Given the description of an element on the screen output the (x, y) to click on. 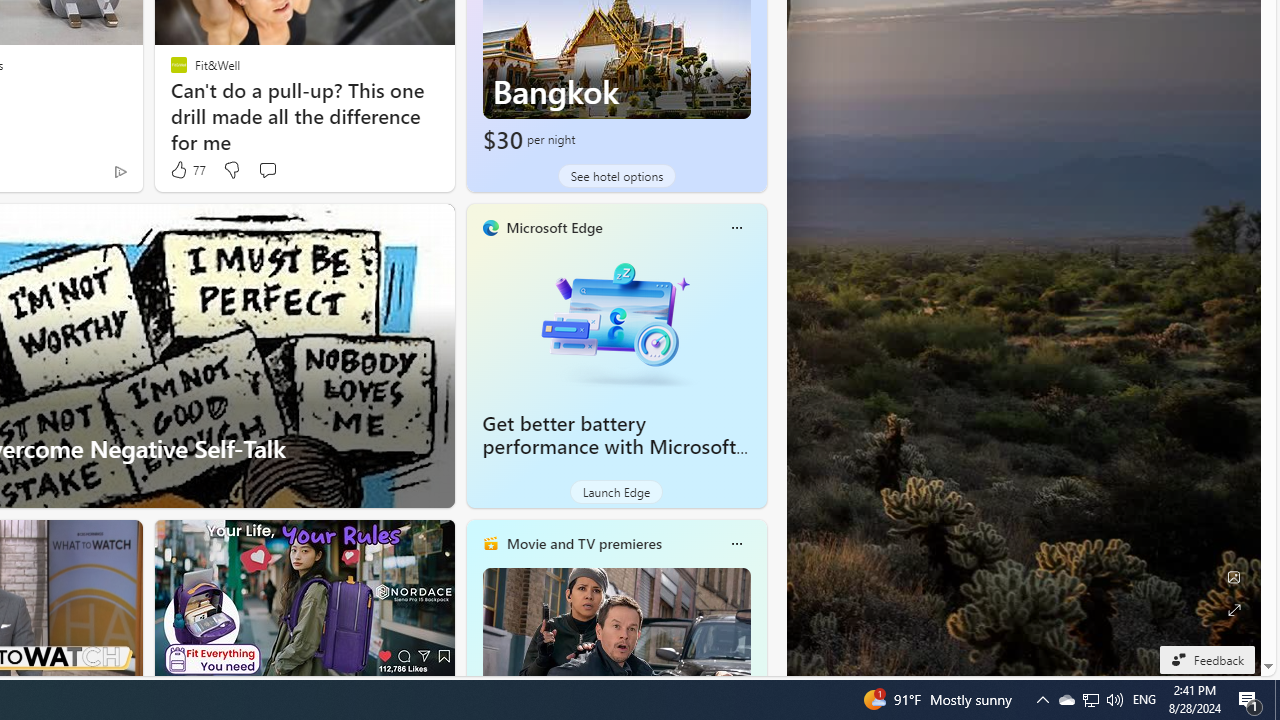
77 Like (186, 170)
Launch Edge (616, 491)
